Given the description of an element on the screen output the (x, y) to click on. 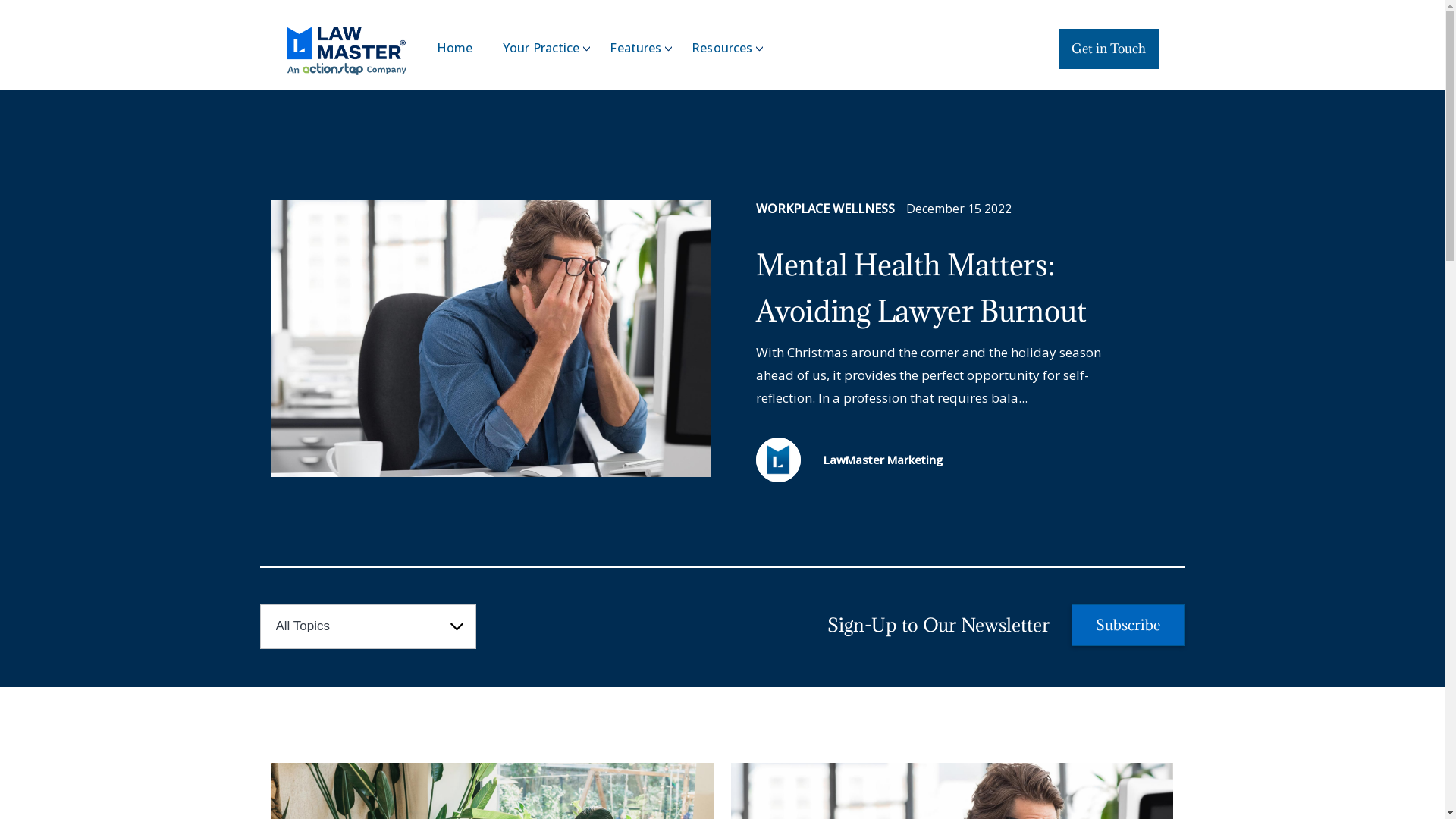
Mental Health Matters: Avoiding Lawyer Burnout Element type: text (964, 287)
Resources Element type: text (729, 47)
Your Practice Element type: text (548, 47)
Features Element type: text (643, 47)
Home Element type: text (462, 47)
WORKPLACE WELLNESS Element type: text (829, 208)
Get in Touch Element type: text (1108, 48)
Subscribe Element type: text (1127, 625)
